Given the description of an element on the screen output the (x, y) to click on. 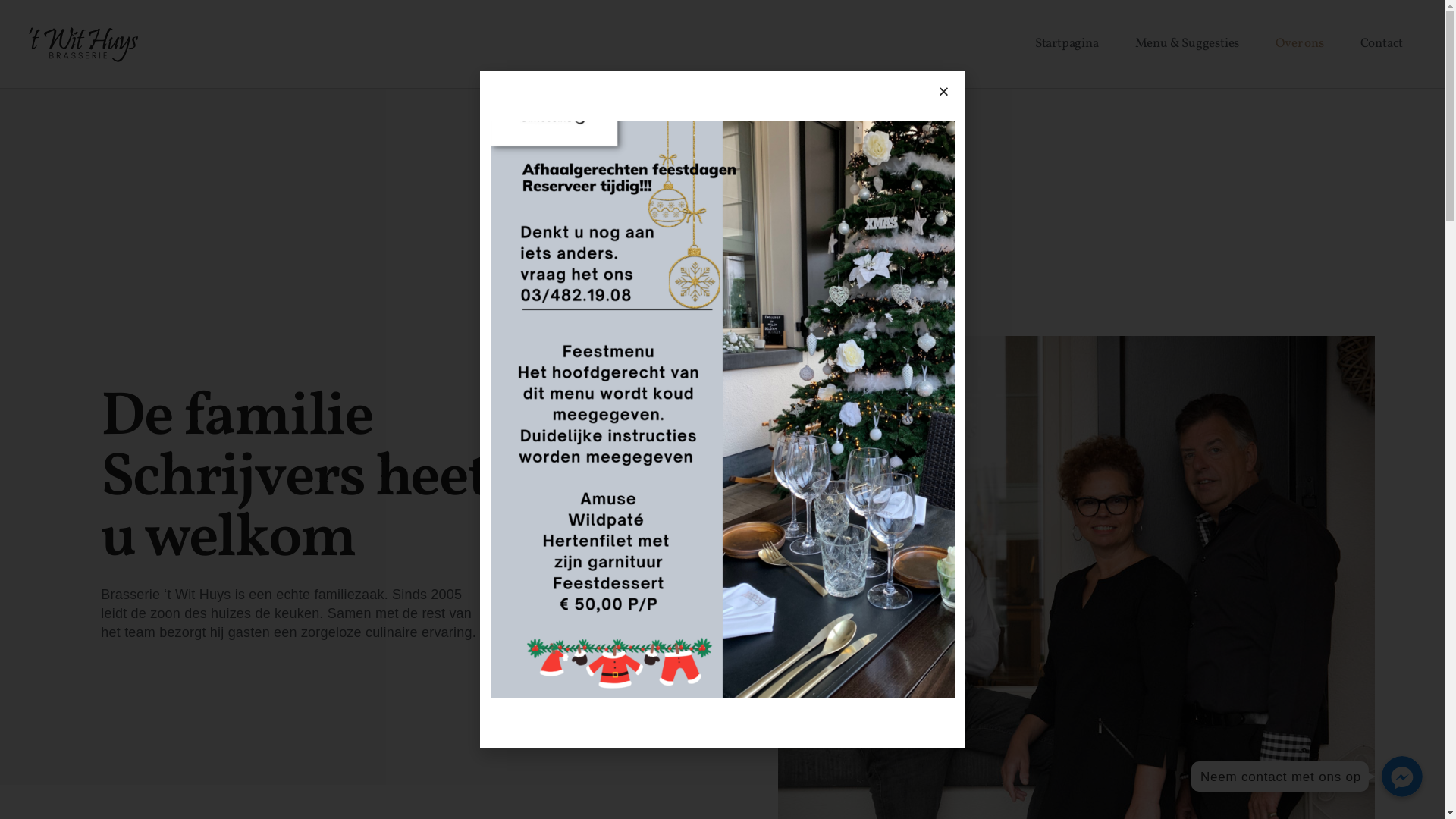
Facebook Messenger Element type: text (1401, 776)
Over ons Element type: text (1299, 43)
Menu & Suggesties Element type: text (1187, 43)
Contact Element type: text (1381, 43)
Startpagina Element type: text (1066, 43)
